Given the description of an element on the screen output the (x, y) to click on. 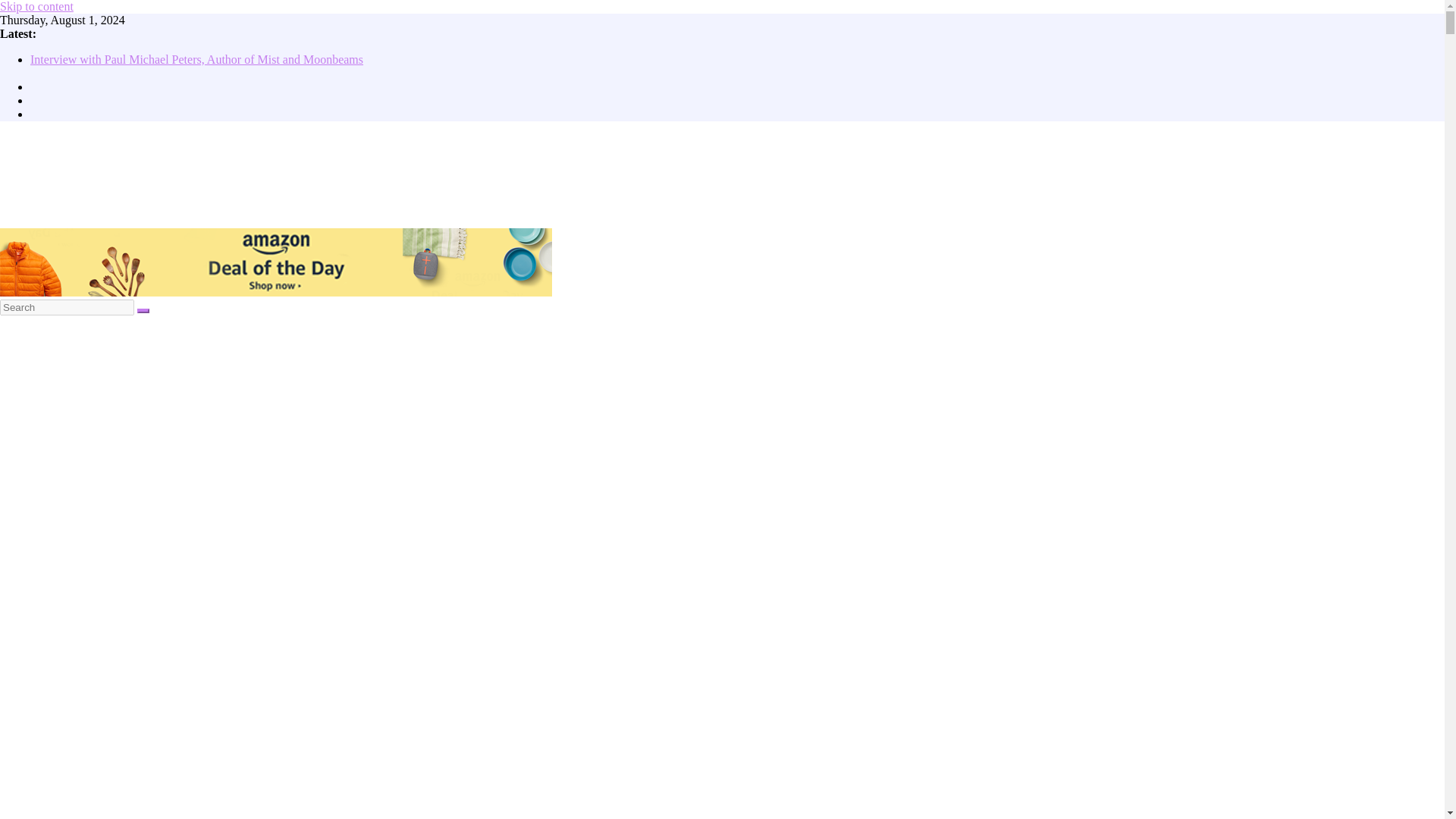
Interview with Judy Kashoff, Author of Tales From Down Under (188, 72)
Interview with Judy Kashoff, Author of Tales From Down Under (188, 72)
Skip to content (37, 6)
